Given the description of an element on the screen output the (x, y) to click on. 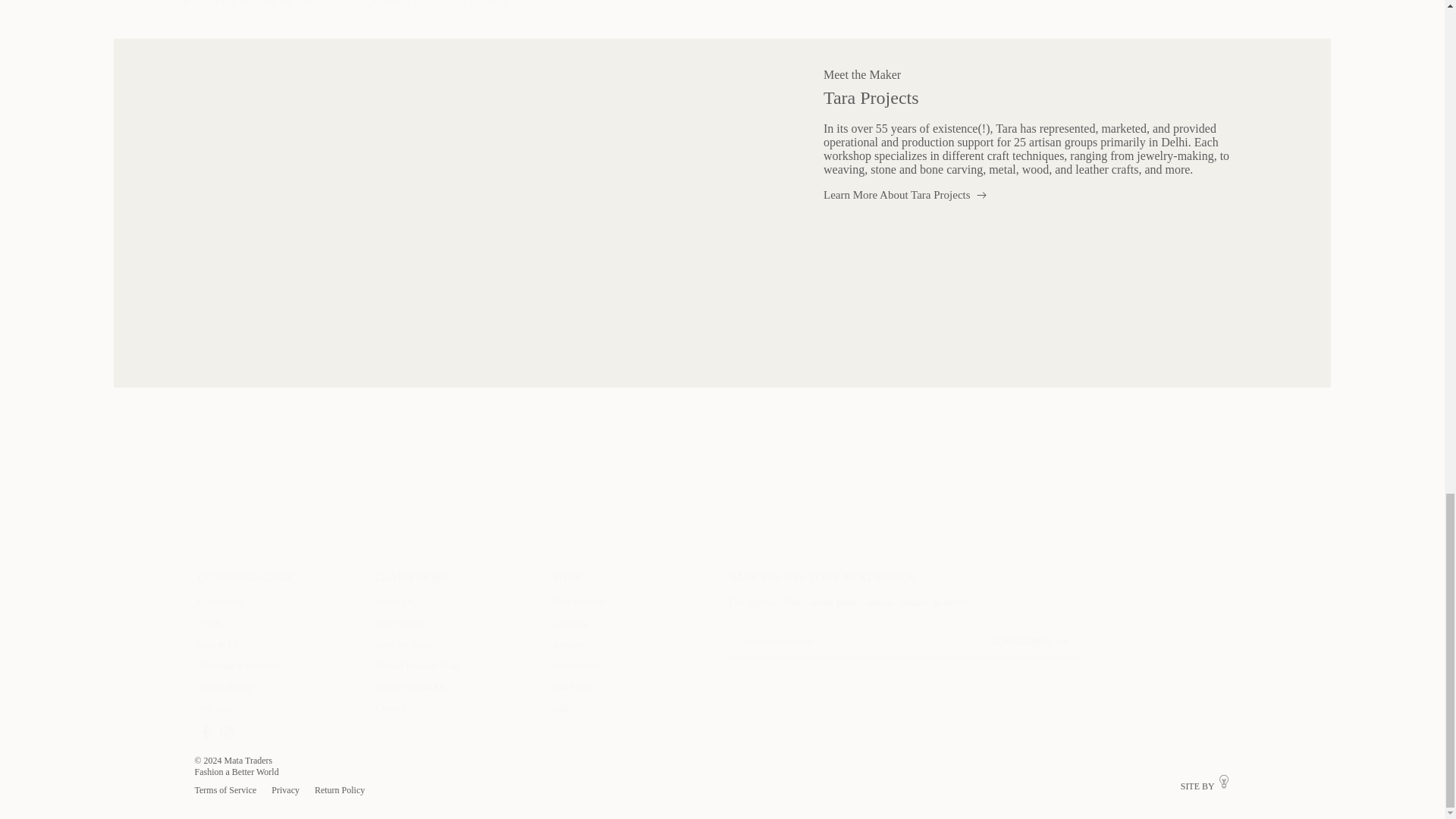
FAQs (209, 622)
Wholesale (219, 707)
Our Partners (400, 622)
About Us (394, 600)
Return Policy (225, 686)
Ethical Fashion Blog (416, 665)
Learn More About Tara Projects (905, 194)
Contact Us (220, 600)
How It's Made (404, 644)
